Given the description of an element on the screen output the (x, y) to click on. 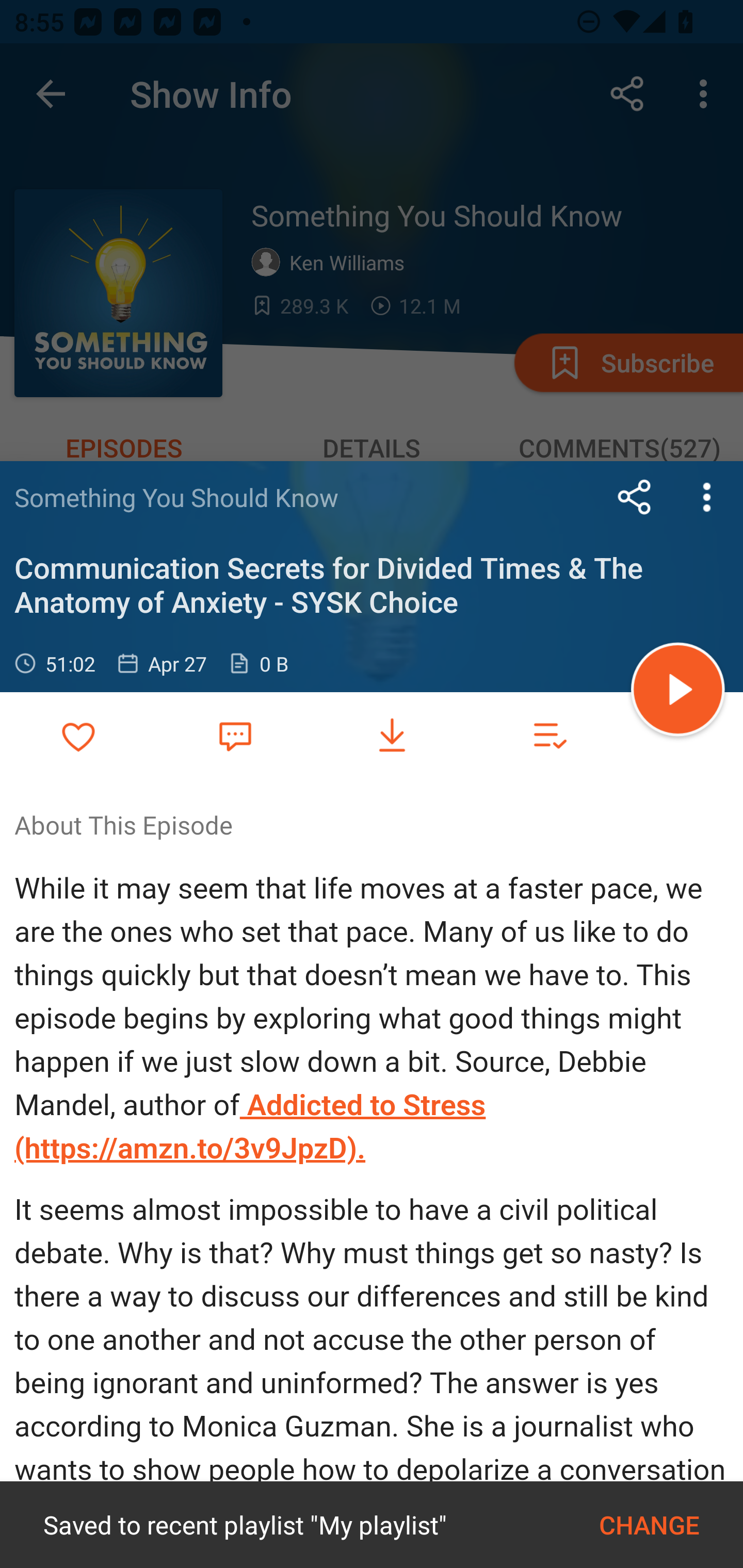
Share (634, 496)
more options (706, 496)
Play (677, 692)
Favorite (234, 735)
Add to Favorites (78, 735)
Download (391, 735)
Add to playlist (548, 735)
 Addicted to Stress (https://amzn.to/3v9JpzD). (250, 1126)
Saved to recent playlist "My playlist" CHANGE (371, 1524)
CHANGE (648, 1524)
